Given the description of an element on the screen output the (x, y) to click on. 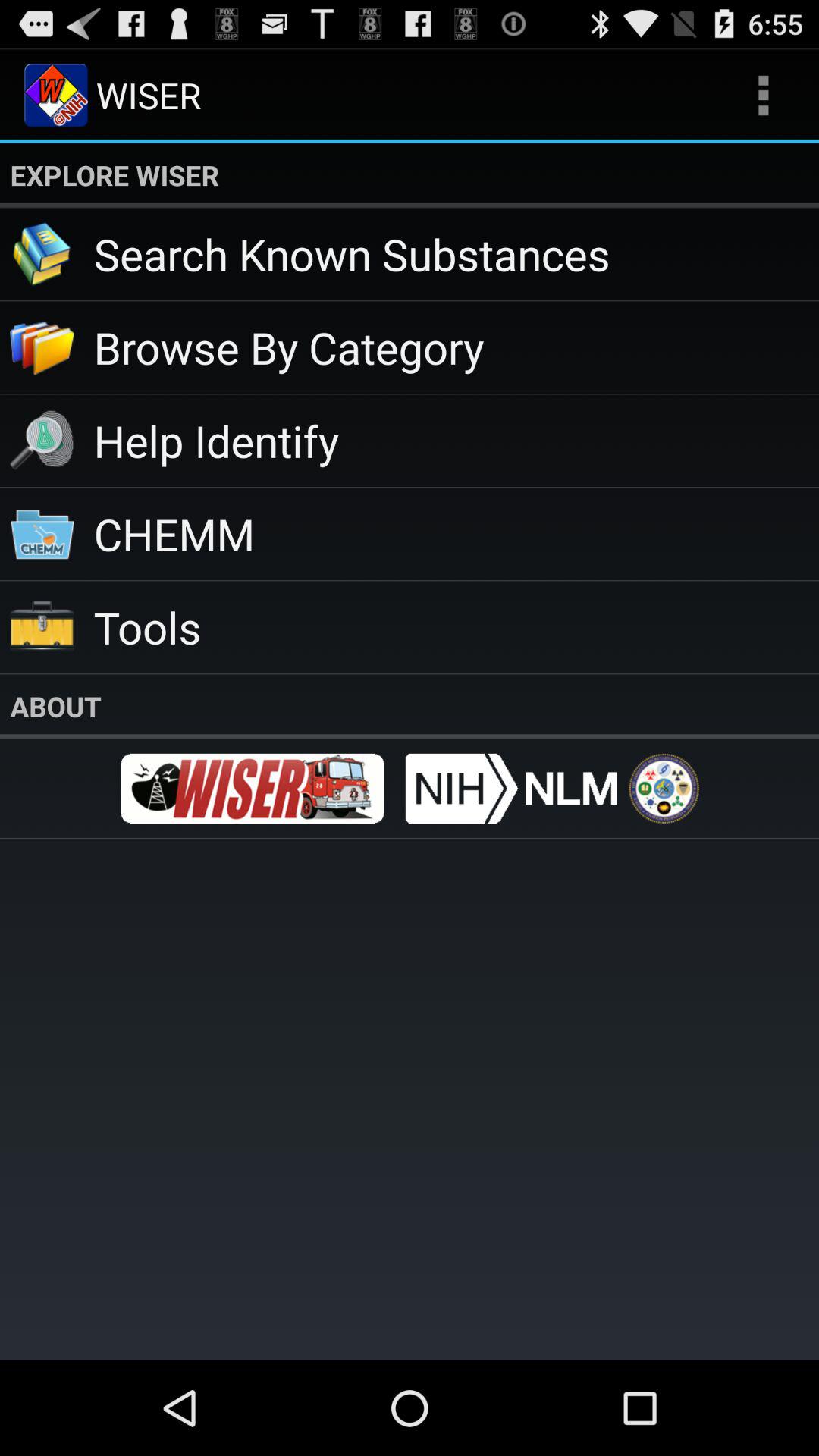
scroll until explore wiser icon (409, 175)
